Given the description of an element on the screen output the (x, y) to click on. 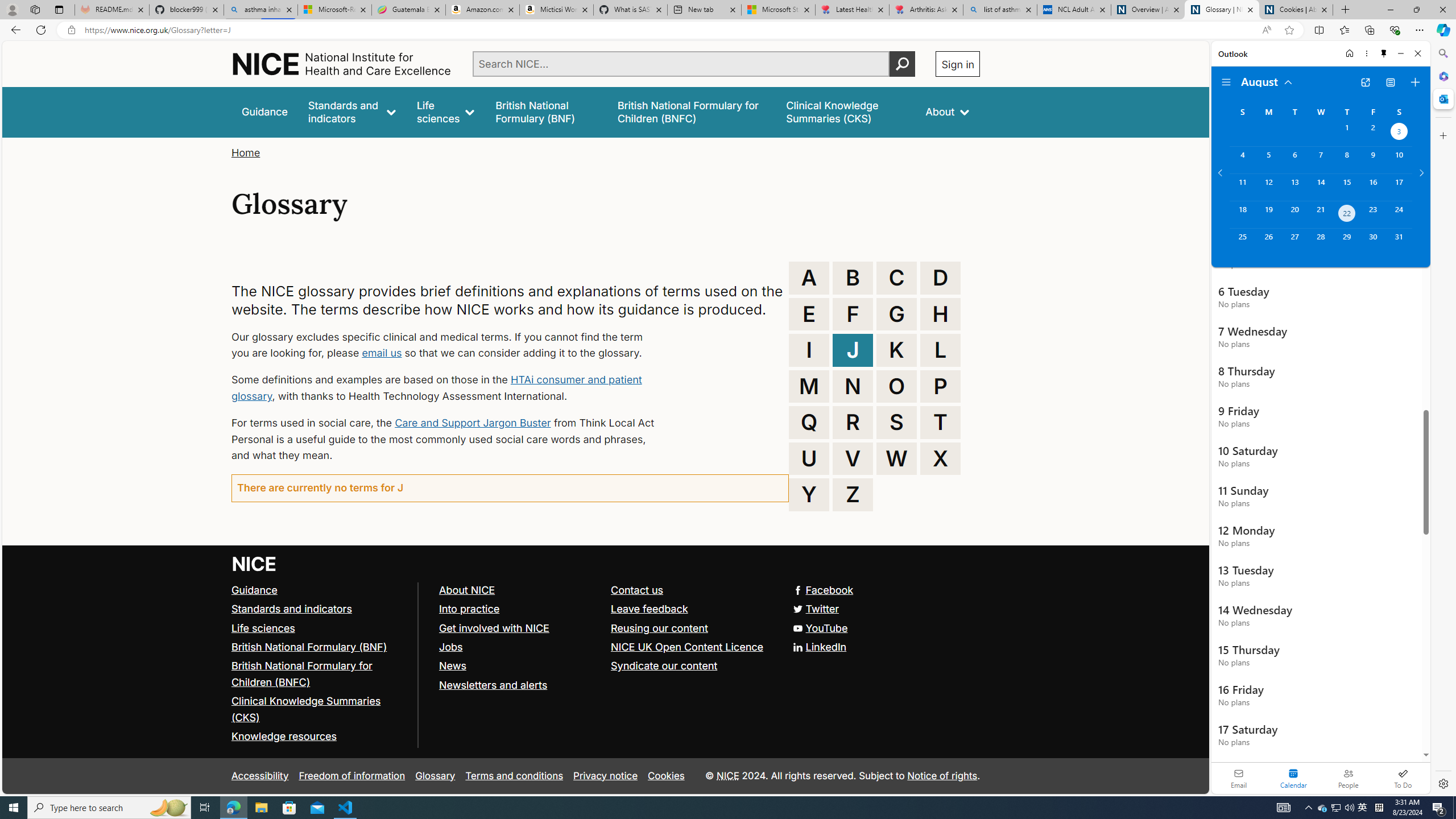
false (845, 111)
W (896, 458)
Tuesday, August 6, 2024.  (1294, 159)
Knowledge resources (319, 736)
Terms and conditions (514, 775)
Saturday, August 3, 2024. Date selected.  (1399, 132)
P (940, 385)
Privacy notice (605, 775)
